Given the description of an element on the screen output the (x, y) to click on. 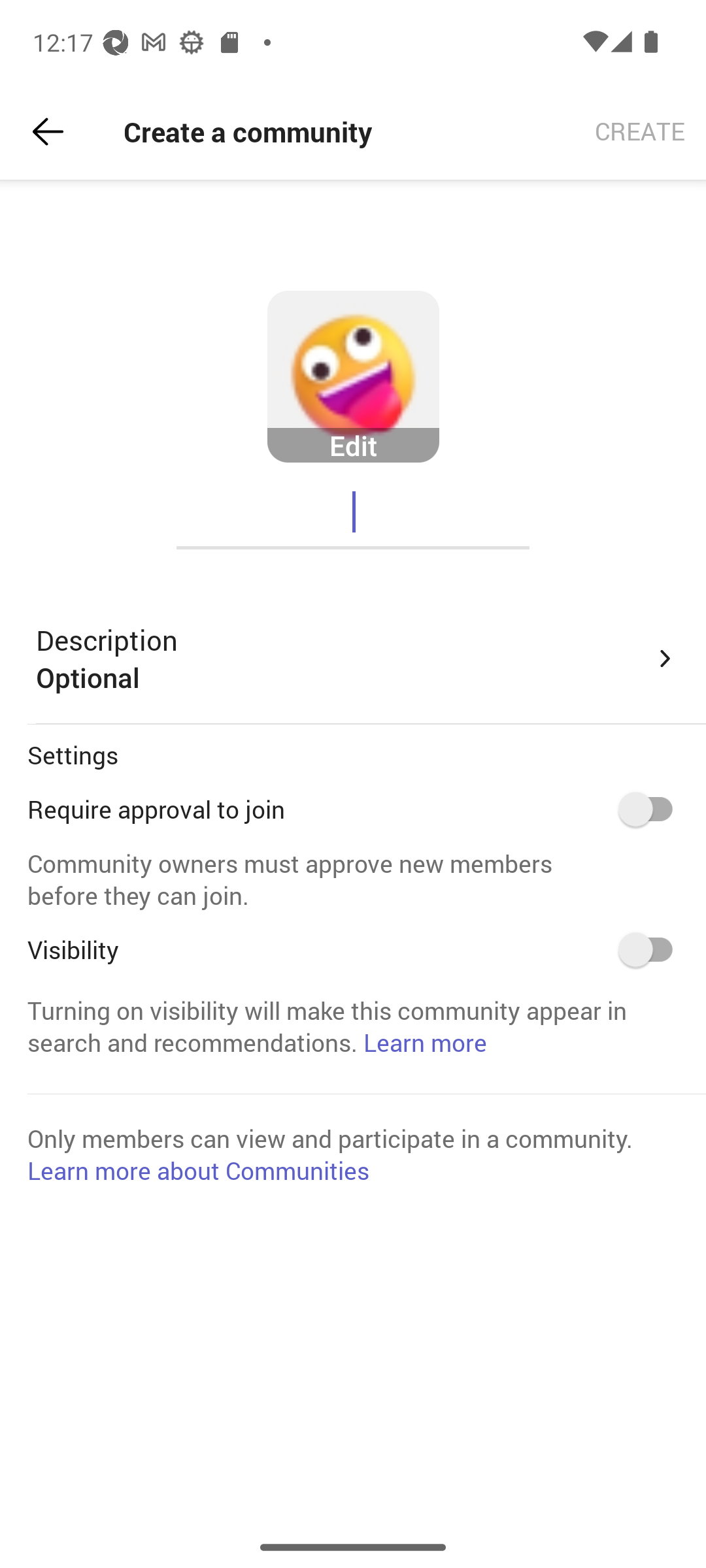
Back (48, 131)
CREATE (639, 131)
Edit community image Edit (353, 377)
Description Optional (357, 659)
Require approval to join (652, 808)
Visibility (652, 949)
